Given the description of an element on the screen output the (x, y) to click on. 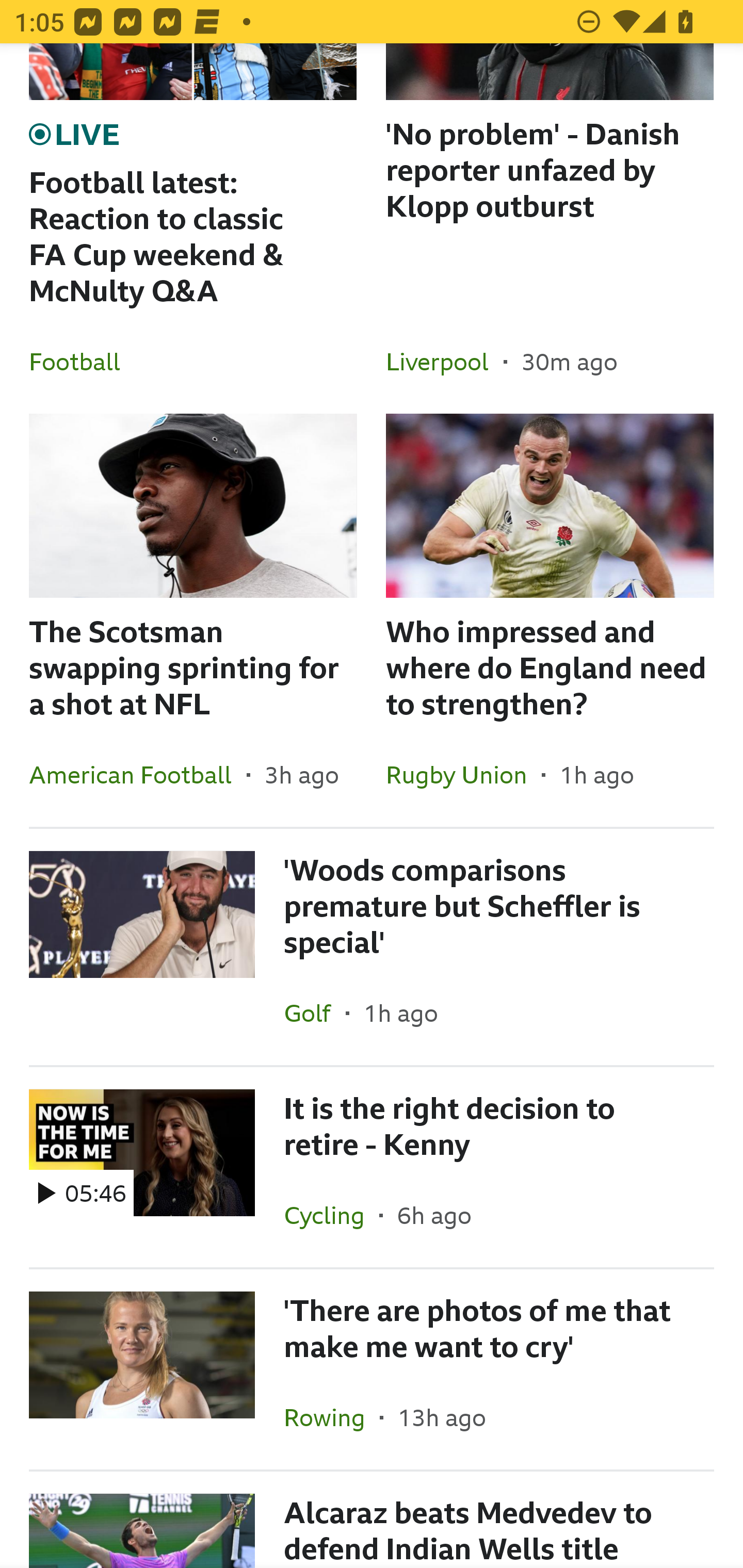
Football In the section Football (81, 360)
Liverpool In the section Liverpool (444, 360)
American Football In the section American Football (137, 774)
Rugby Union In the section Rugby Union (463, 774)
Golf In the section Golf (314, 1012)
Cycling In the section Cycling (330, 1214)
Rowing In the section Rowing (331, 1417)
Tennis In the section Tennis (326, 1568)
